Given the description of an element on the screen output the (x, y) to click on. 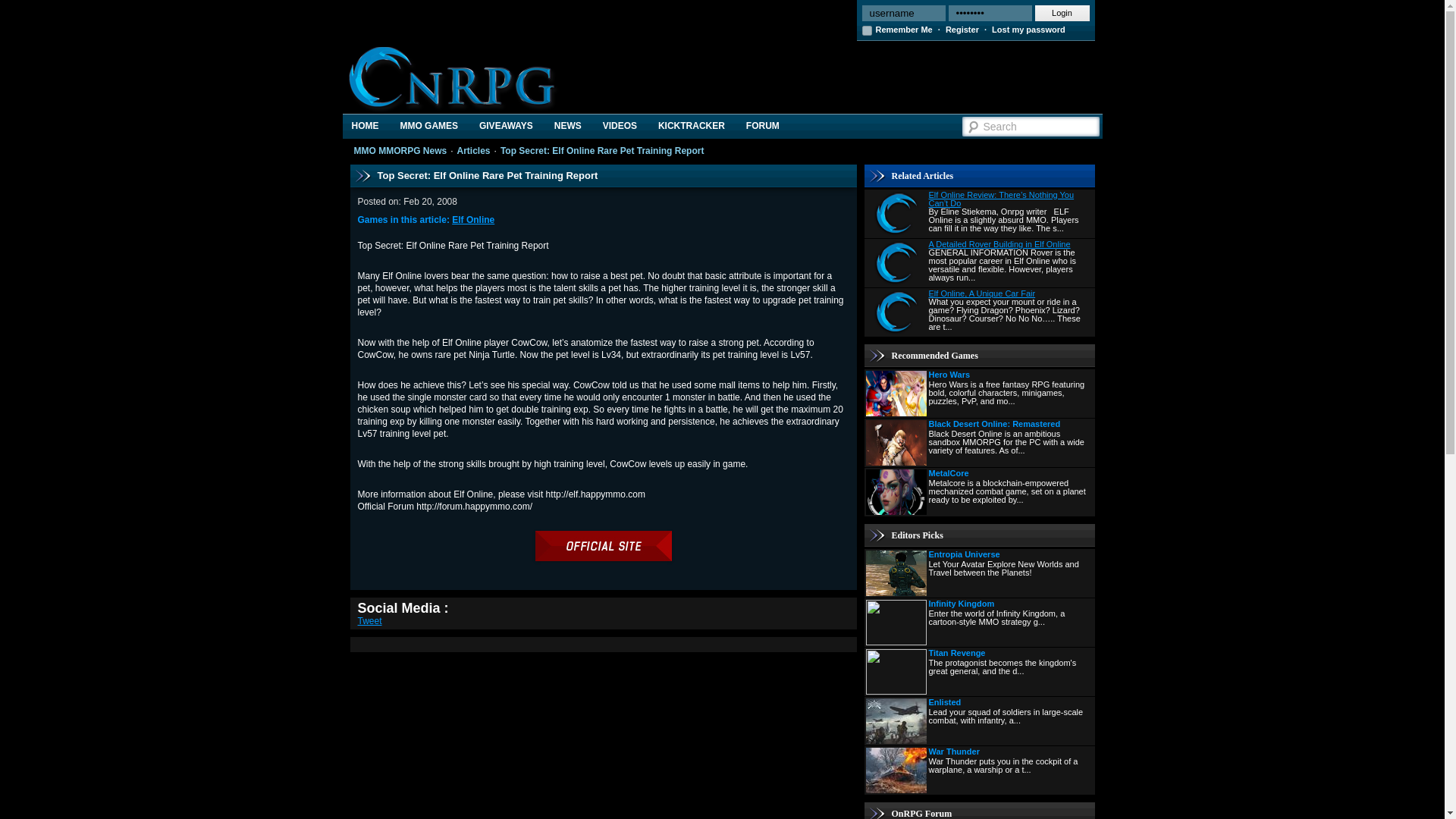
Articles (473, 150)
Kickstarter Games, News, and Updates (691, 125)
OnRPG Homepage (365, 125)
NEWS (567, 125)
Tweet (369, 620)
HOME (365, 125)
MMO MMORPG News (399, 150)
GIVEAWAYS (505, 125)
Visit the Official Site for Elf Online (603, 557)
Elf Online (473, 219)
